Given the description of an element on the screen output the (x, y) to click on. 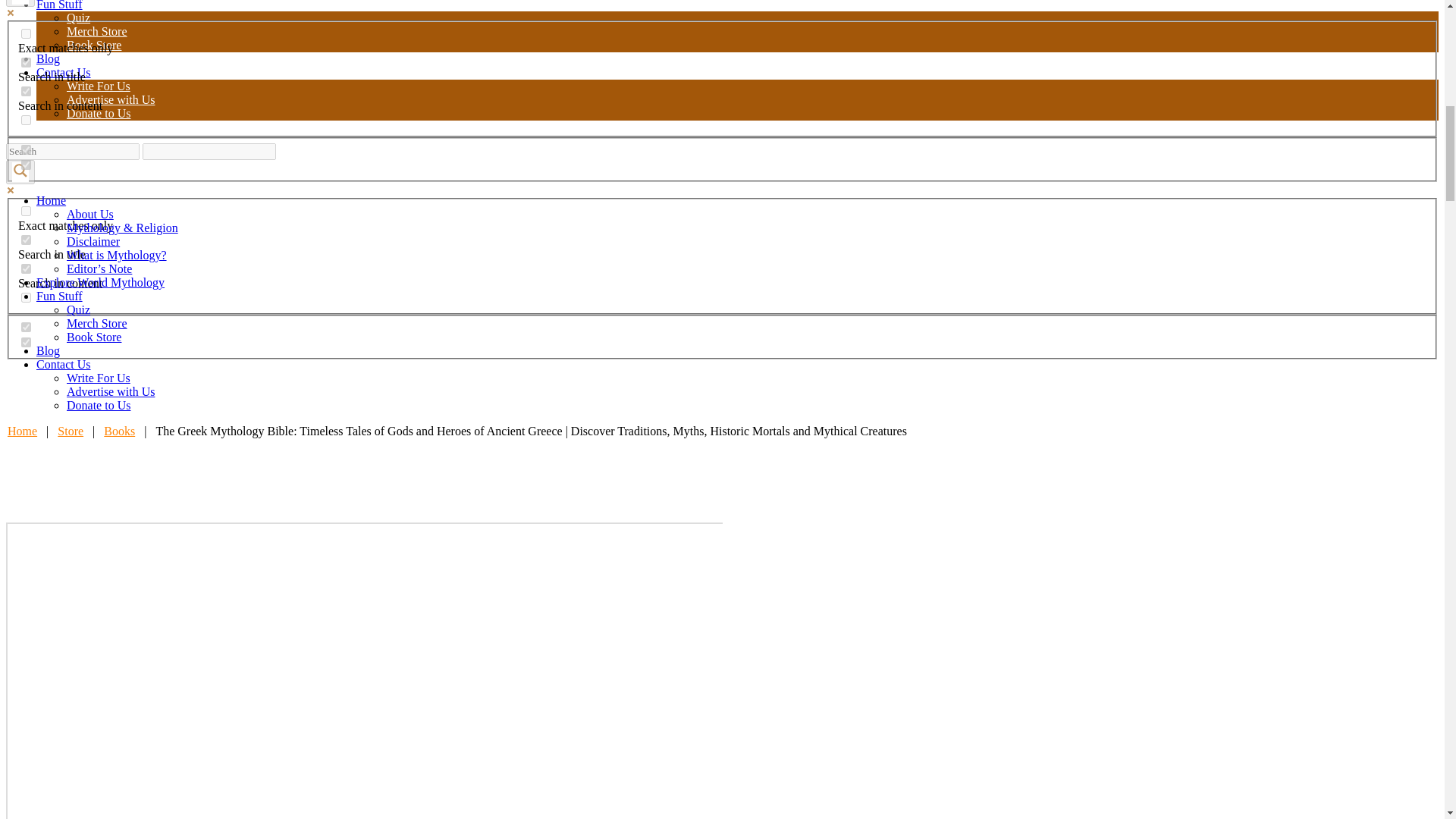
Advertise with Us (110, 99)
Start search (285, 145)
Fun Stuff (59, 5)
Contact Us (63, 72)
title (25, 62)
Donate to Us (98, 113)
content (25, 268)
Merch Store (97, 31)
Book Store (93, 44)
Write For Us (98, 85)
exact (25, 211)
Quiz (78, 17)
excerpt (25, 297)
page (25, 342)
exact (25, 33)
